Given the description of an element on the screen output the (x, y) to click on. 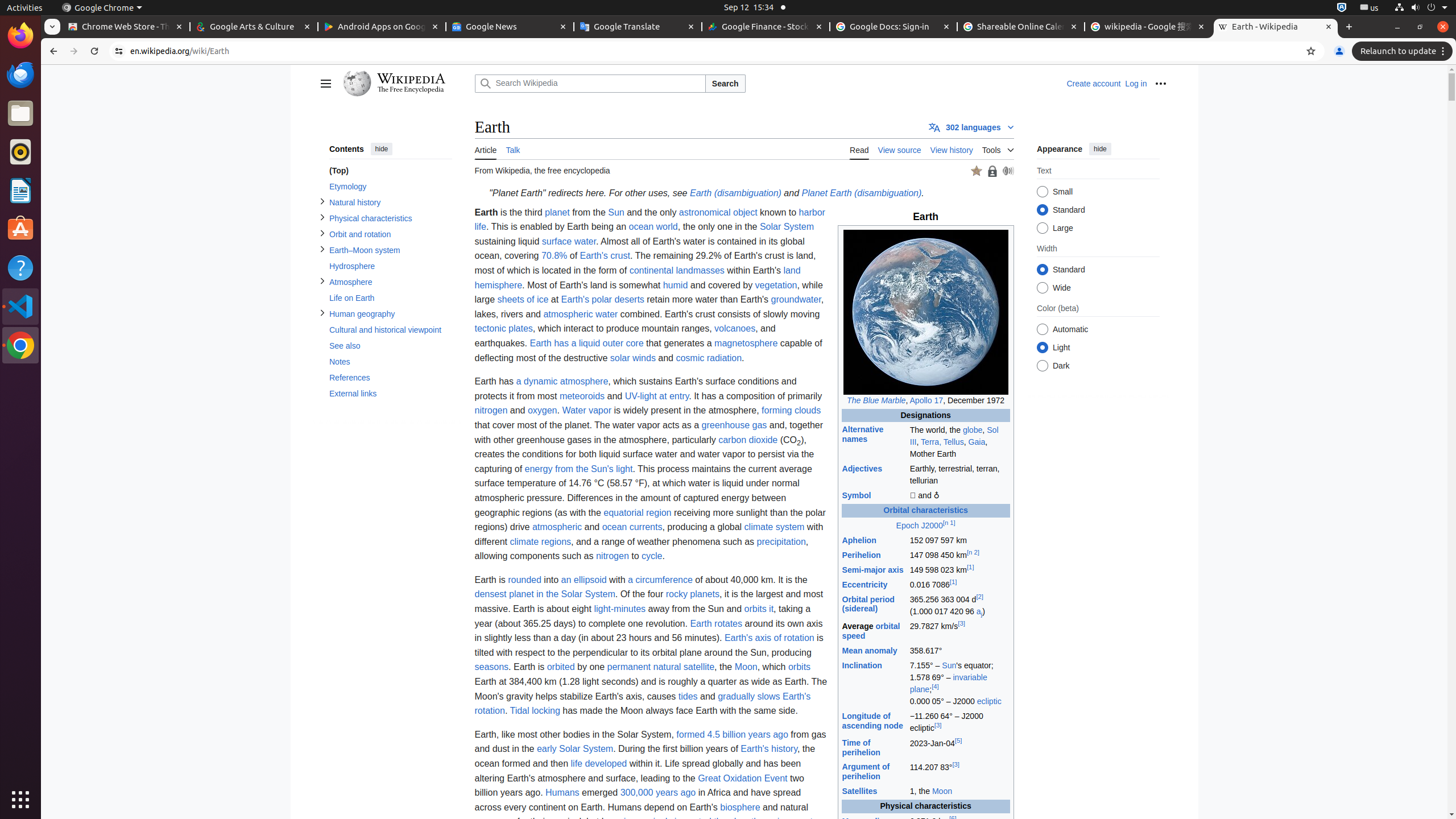
:1.72/StatusNotifierItem Element type: menu (1341, 7)
Files Element type: push-button (20, 113)
References Element type: link (390, 377)
Forward Element type: push-button (73, 50)
a Element type: link (978, 611)
